Given the description of an element on the screen output the (x, y) to click on. 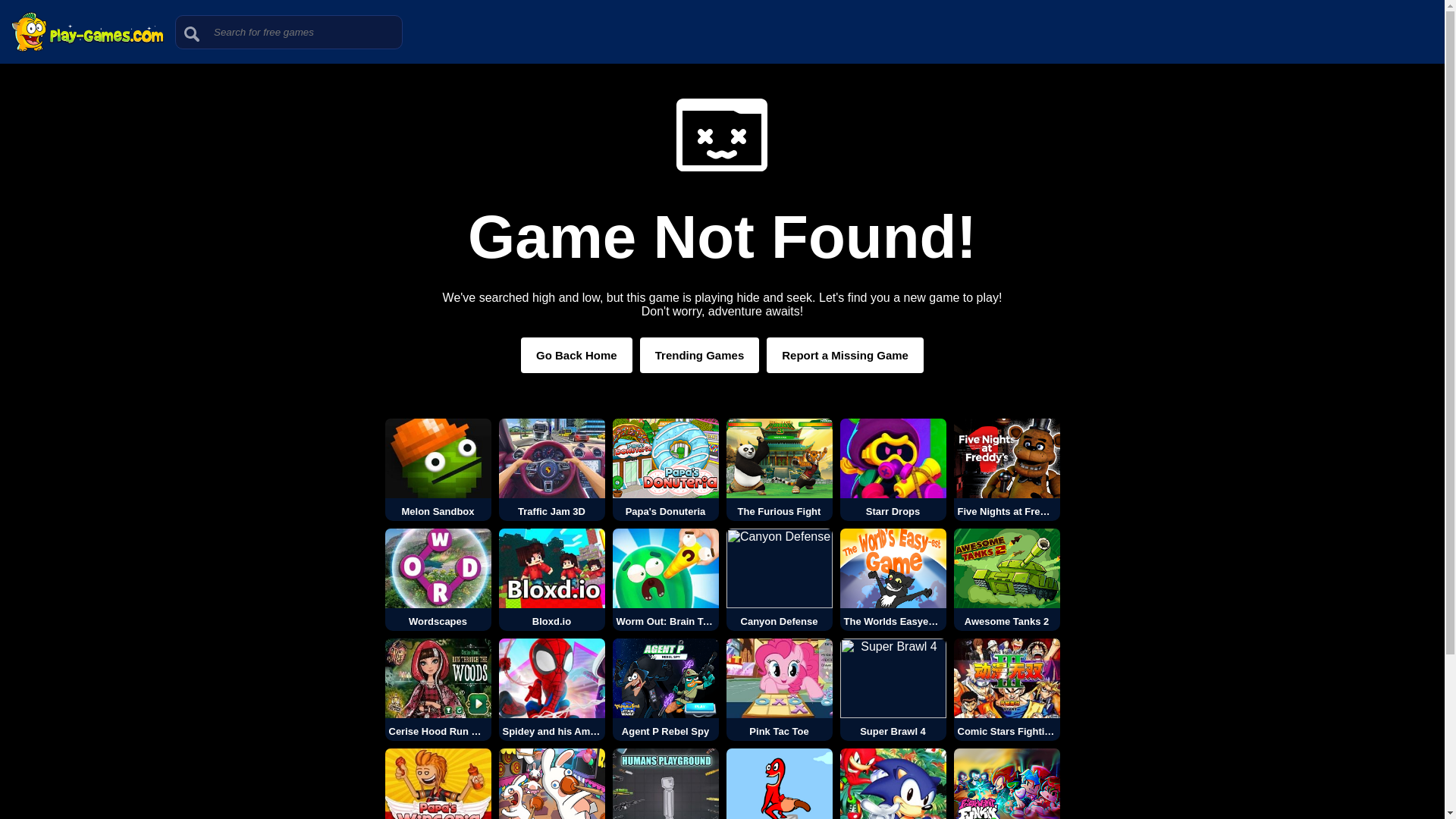
Friday Night Funkin (1006, 783)
Sonic 3 and Knuckles (893, 783)
Humans Playground (665, 783)
Agent P Rebel Spy (665, 689)
Wordscapes (438, 579)
Starr Drops (893, 469)
Canyon Defense (779, 579)
Cerise Hood Run Through the Woods (438, 689)
Spidey and his Amazing Friends: Swing Into Action! (552, 689)
Five Nights at Freddy's 1 (1006, 469)
Go Back Home (576, 355)
Pink Tac Toe (779, 689)
Awesome Tanks 2 (1006, 579)
The Furious Fight (779, 469)
Super Brawl 4 (893, 689)
